Given the description of an element on the screen output the (x, y) to click on. 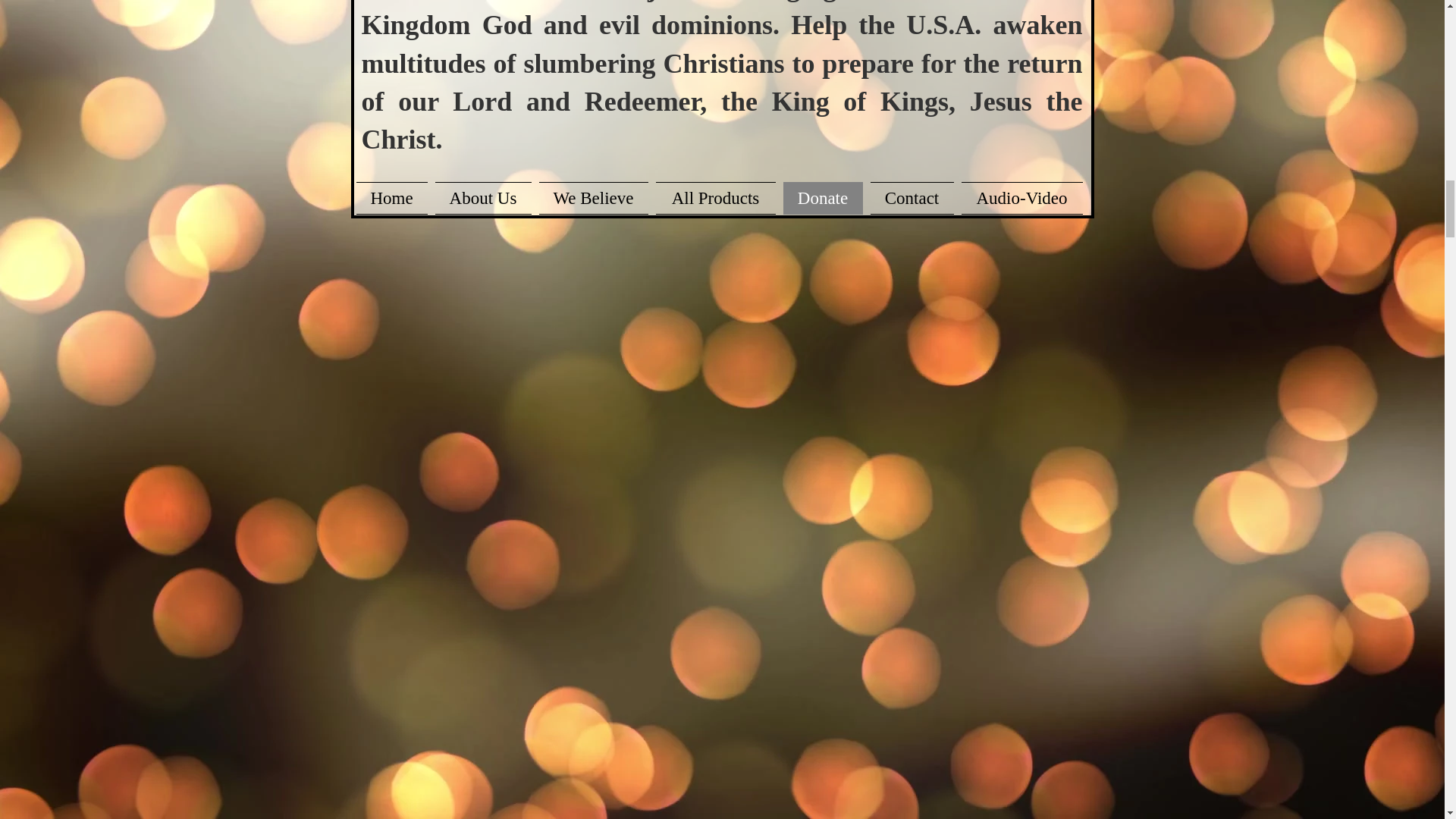
All Products (715, 197)
We Believe (593, 197)
About Us (482, 197)
Donate (822, 197)
Home (393, 197)
Contact (911, 197)
